Given the description of an element on the screen output the (x, y) to click on. 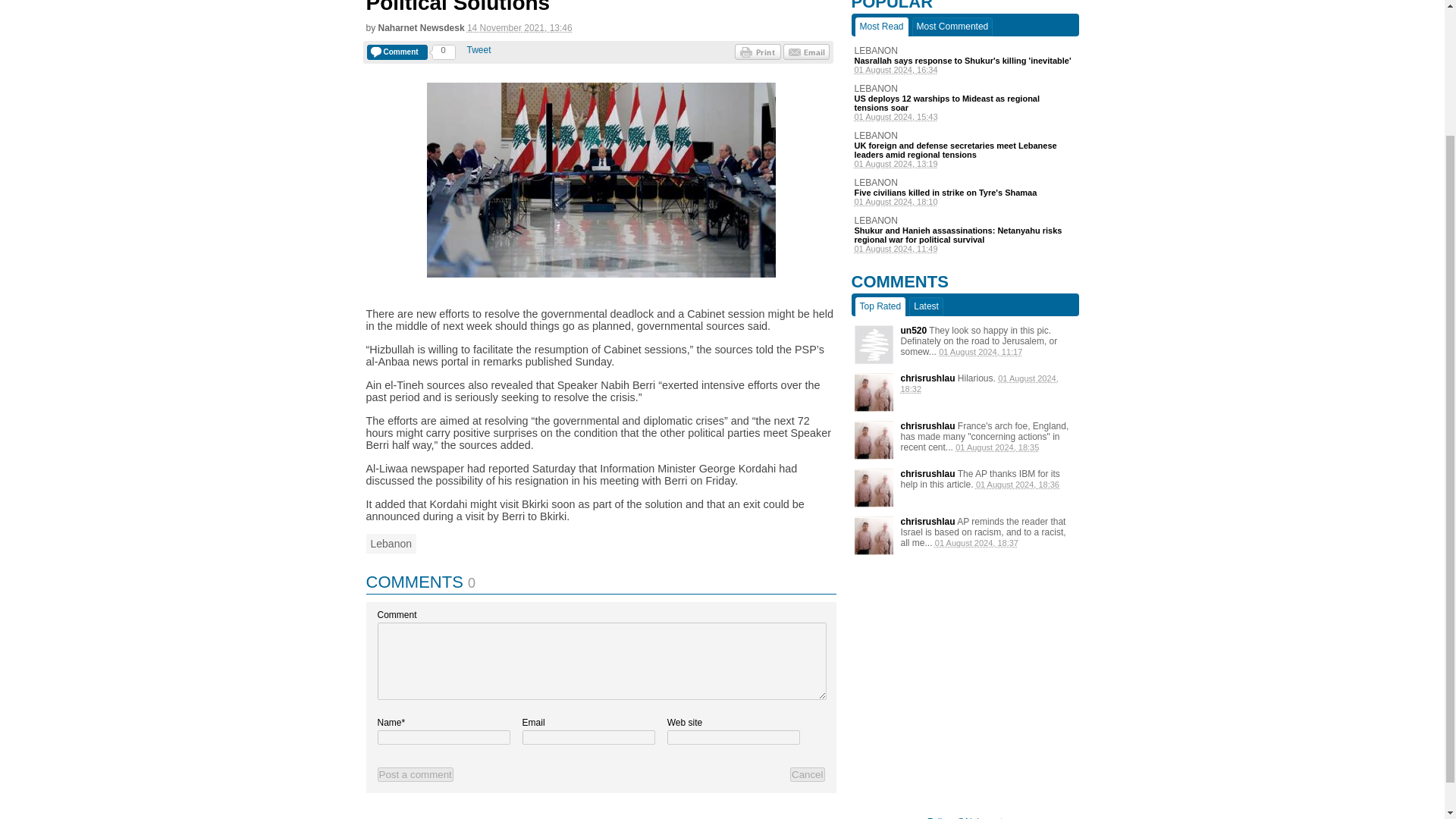
2024-08-01T15:35:19Z (997, 447)
2024-08-01T08:17:42Z (980, 351)
Lebanon (390, 543)
2024-08-01T15:32:04Z (979, 383)
LEBANON (964, 135)
Nasrallah says response to Shukur's killing 'inevitable' (964, 60)
LEBANON (964, 220)
2024-08-01T15:36:02Z (1017, 483)
LEBANON (964, 182)
